Given the description of an element on the screen output the (x, y) to click on. 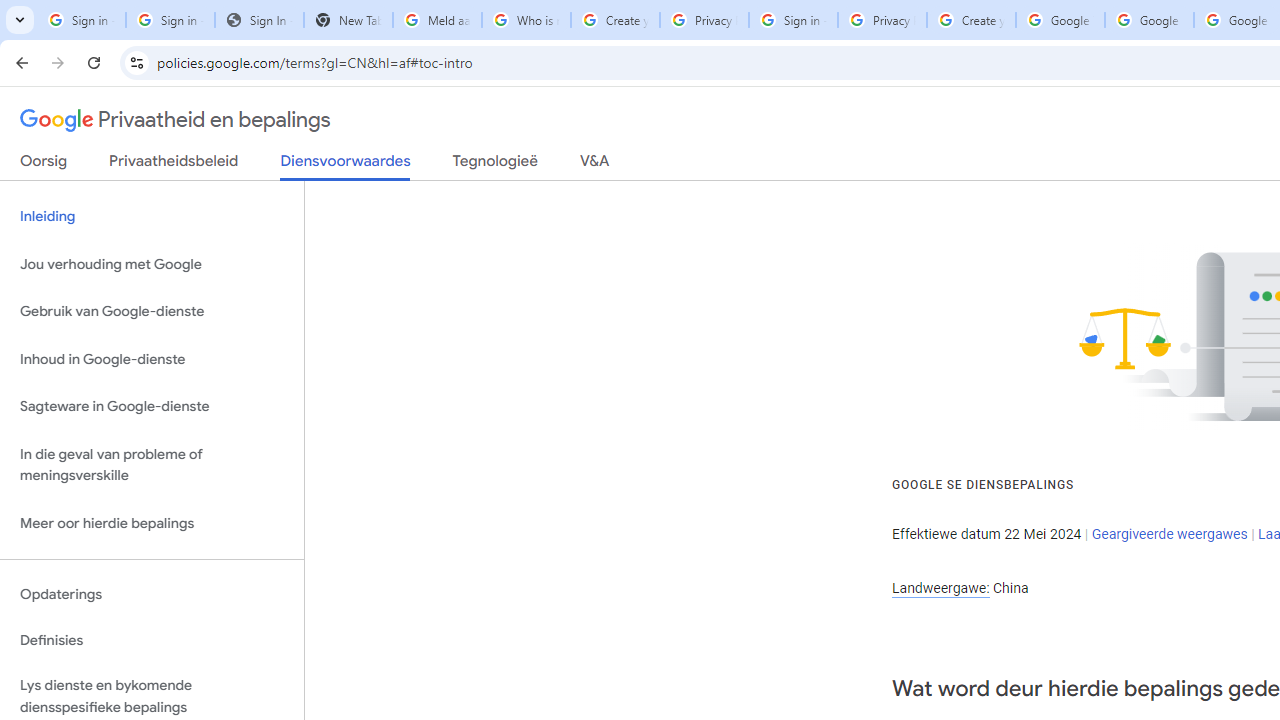
V&A (594, 165)
Create your Google Account (615, 20)
Sign in - Google Accounts (81, 20)
Privaatheidsbeleid (173, 165)
Diensvoorwaardes (345, 166)
Oorsig (43, 165)
Geargiveerde weergawes (1169, 533)
Jou verhouding met Google (152, 263)
Sign in - Google Accounts (793, 20)
Sign in - Google Accounts (170, 20)
Landweergawe: (940, 588)
